Given the description of an element on the screen output the (x, y) to click on. 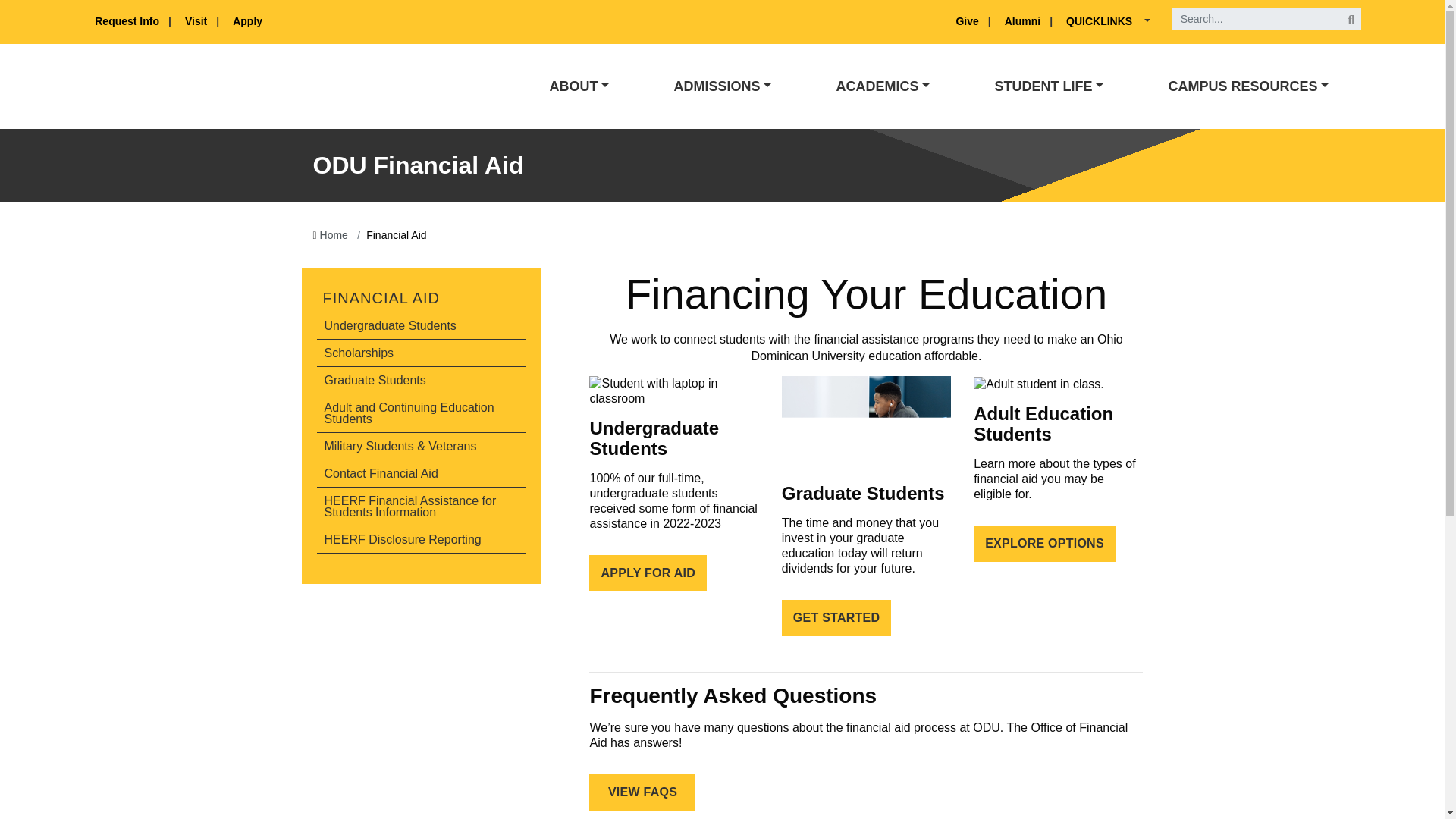
Give (967, 21)
ADMISSIONS (722, 85)
Visit (197, 21)
Apply (247, 21)
Request Info (127, 21)
Alumni (1023, 21)
QUICKLINKS (1103, 21)
ousearchq (1266, 18)
ABOUT (579, 85)
